Given the description of an element on the screen output the (x, y) to click on. 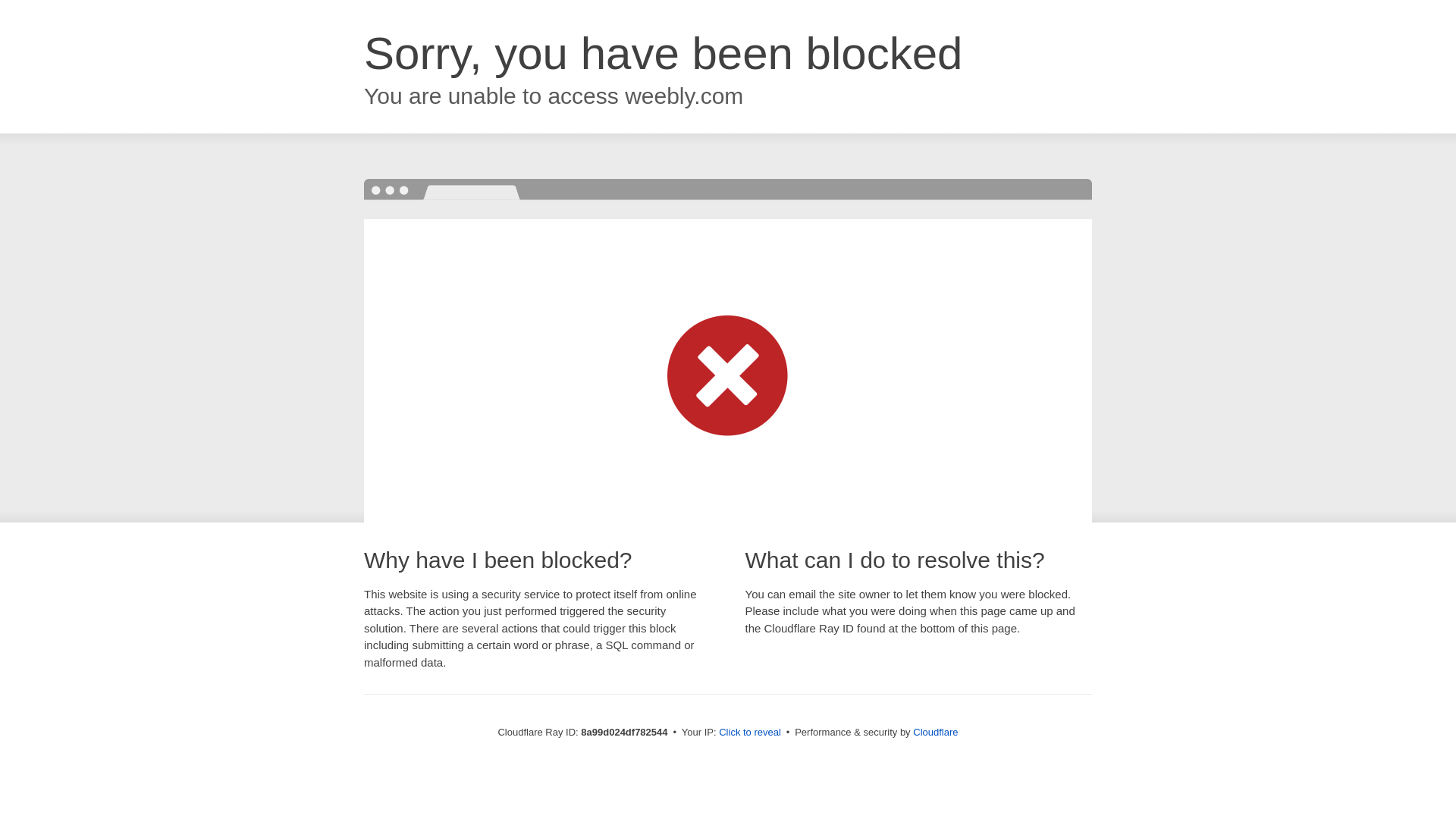
Click to reveal (749, 732)
Cloudflare (935, 731)
